Given the description of an element on the screen output the (x, y) to click on. 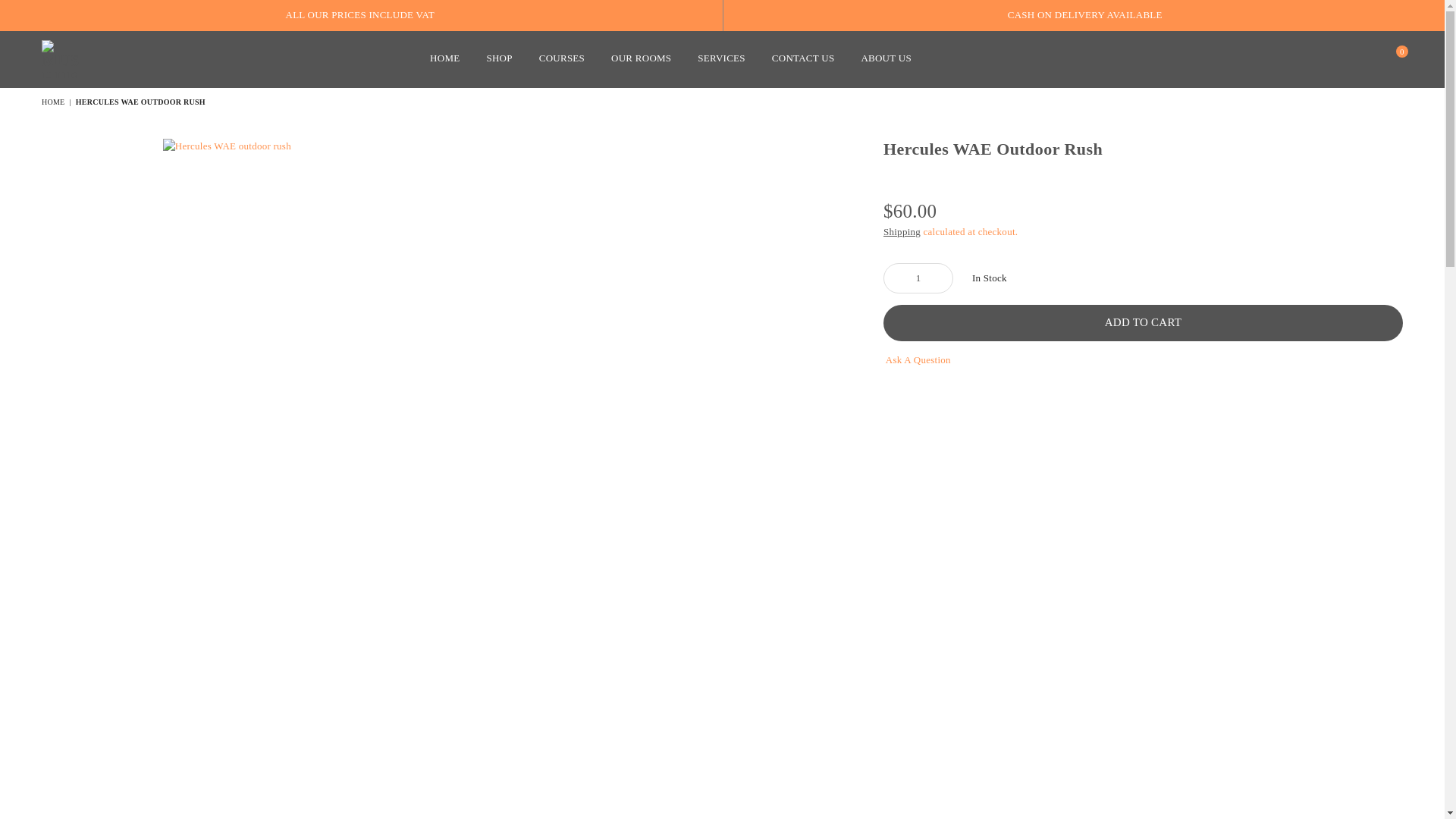
Quantity (918, 277)
MUSIC HUB (100, 58)
Back to the home page (54, 101)
CART (1389, 58)
SHOP (498, 59)
COURSES (561, 59)
SERVICES (720, 59)
ALL OUR PRICES INCLUDE VAT (359, 14)
CASH ON DELIVERY AVAILABLE (1084, 14)
HOME (444, 59)
SEARCH (1362, 58)
OUR ROOMS (640, 59)
CONTACT US (802, 59)
